Given the description of an element on the screen output the (x, y) to click on. 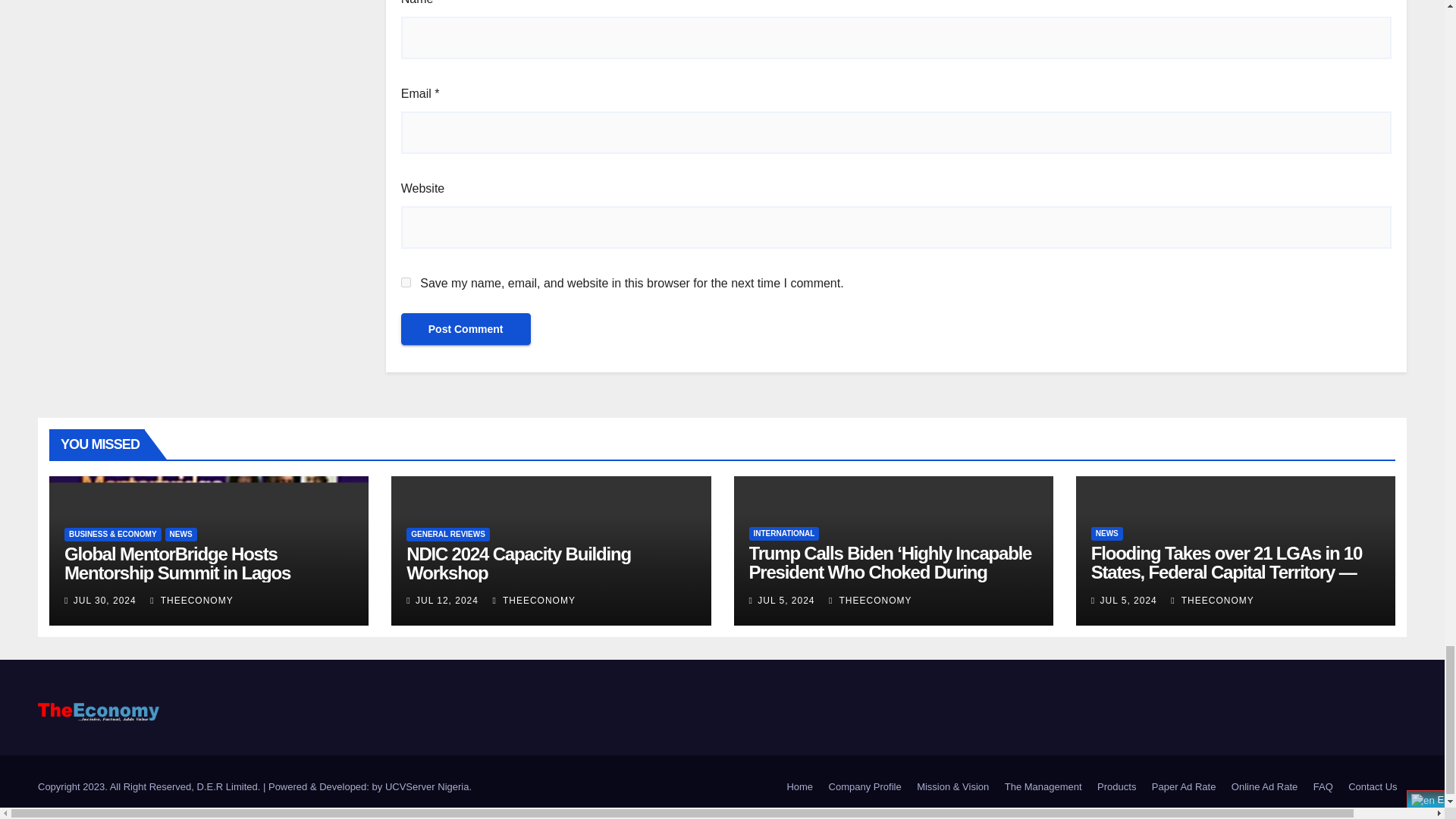
yes (405, 282)
Post Comment (466, 328)
